Given the description of an element on the screen output the (x, y) to click on. 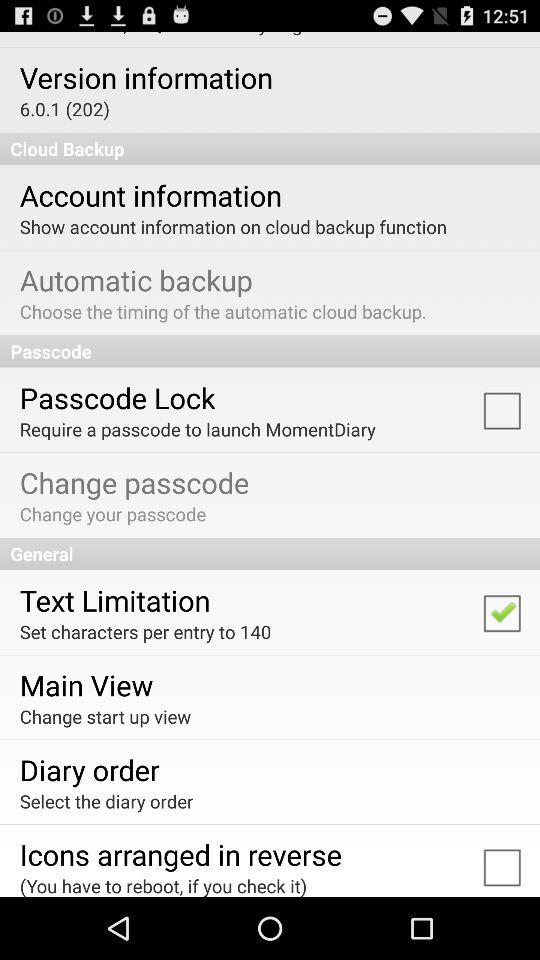
click the app above you have to item (180, 854)
